Given the description of an element on the screen output the (x, y) to click on. 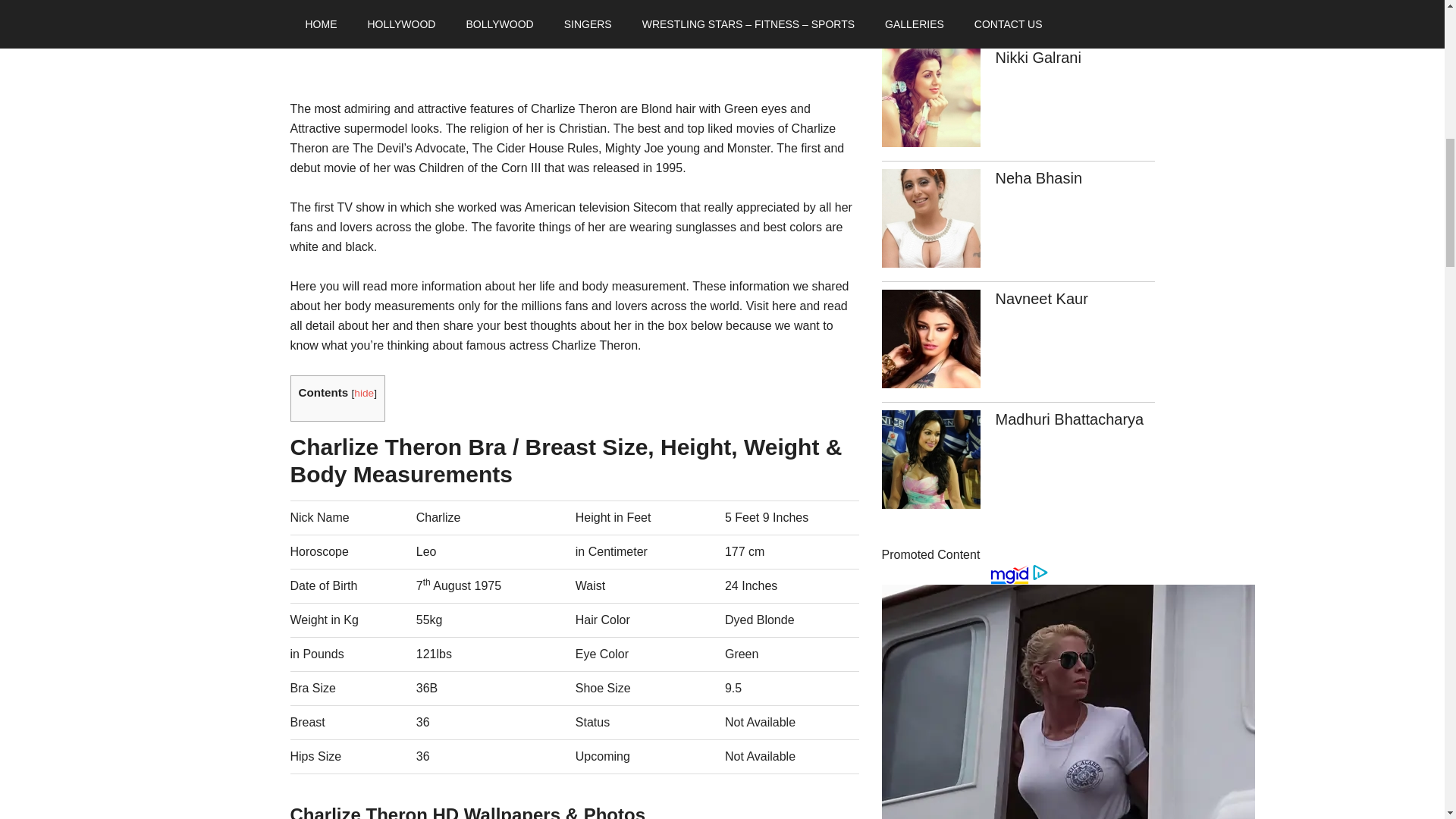
Nikki Galrani (1037, 57)
Navneet Kaur (1040, 298)
Neha Bhasin (1037, 177)
hide (363, 392)
Nithya Menen Height, Weight, Bra, Bio, Figure Size (929, 16)
